Given the description of an element on the screen output the (x, y) to click on. 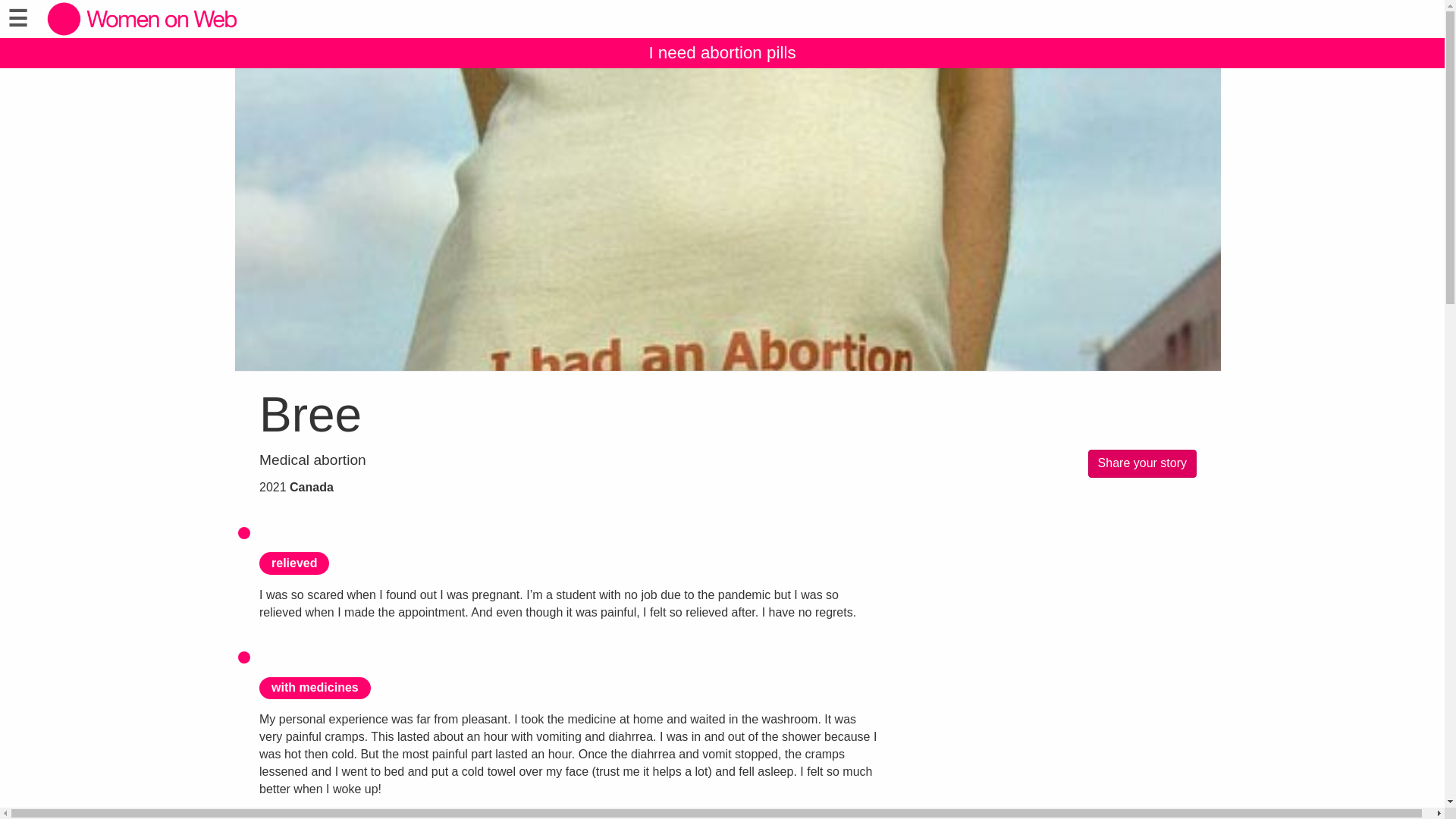
relieved (294, 562)
Share your story (1141, 463)
with medicines (315, 686)
I need abortion pills (722, 52)
